Given the description of an element on the screen output the (x, y) to click on. 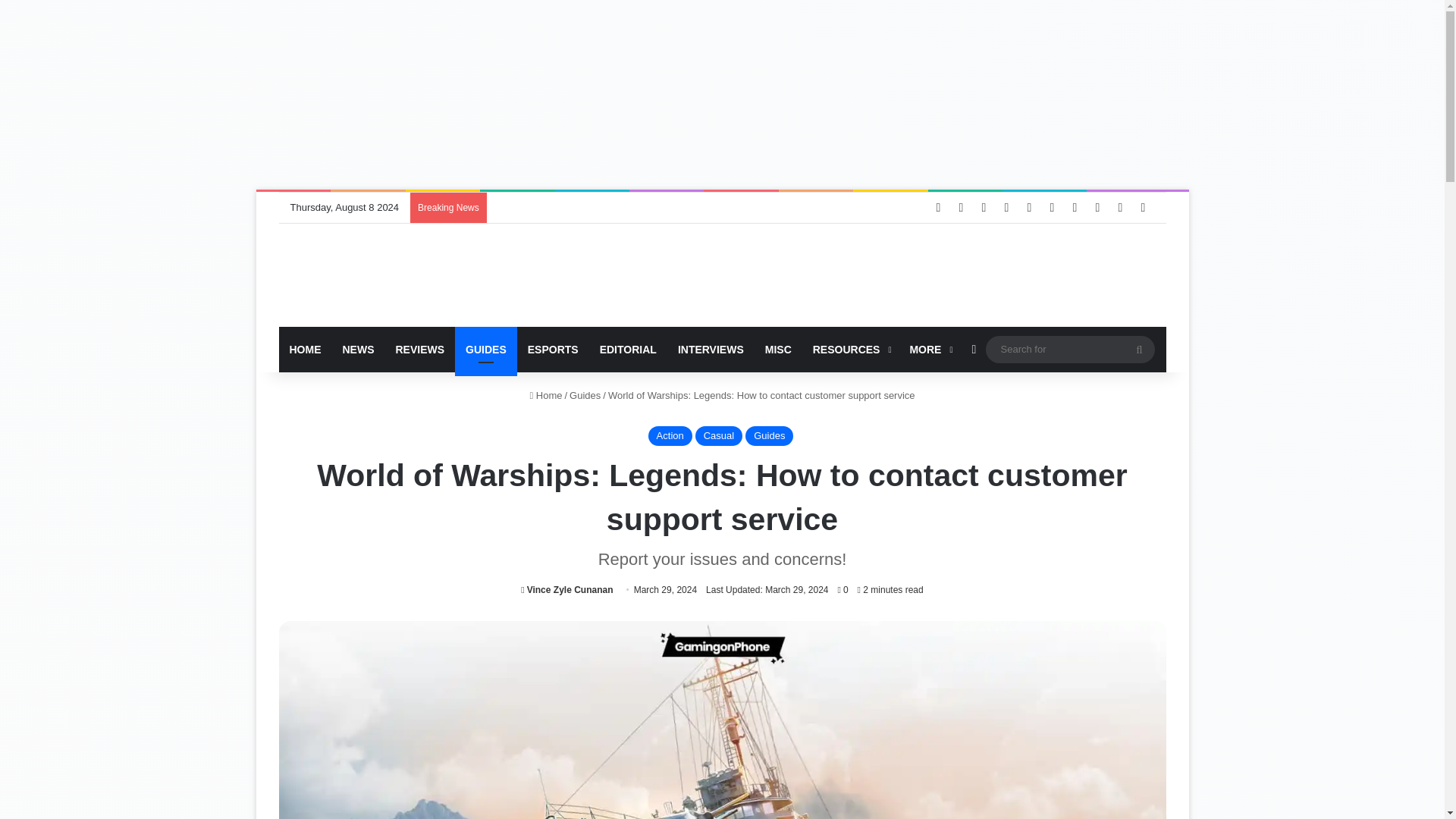
MISC (778, 349)
RESOURCES (850, 349)
Vince Zyle Cunanan (566, 589)
NEWS (358, 349)
EDITORIAL (627, 349)
GUIDES (485, 349)
INTERVIEWS (710, 349)
MORE (928, 349)
REVIEWS (420, 349)
HOME (305, 349)
